Given the description of an element on the screen output the (x, y) to click on. 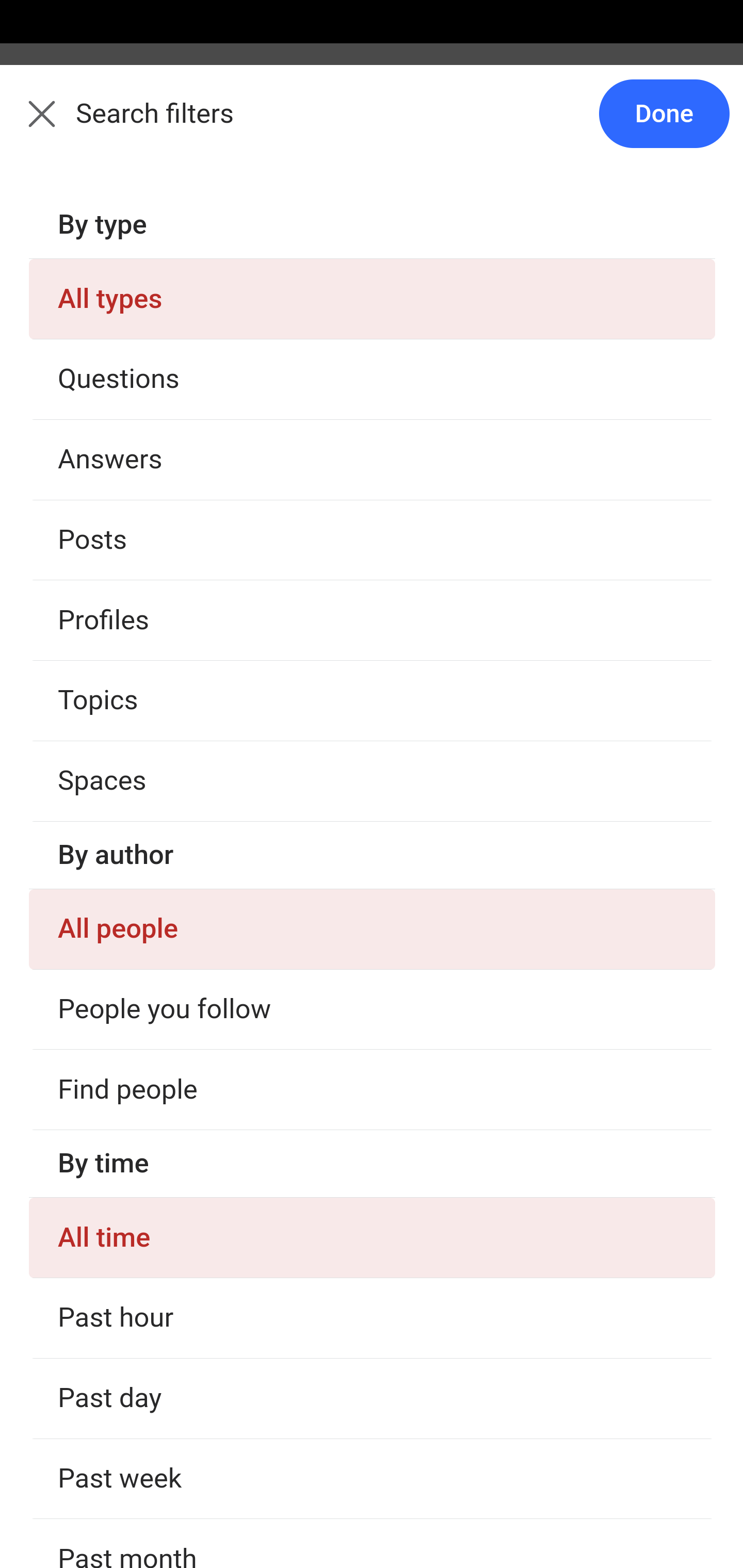
Back Search (371, 125)
Upvote (122, 544)
Upvote (122, 1255)
Answer (125, 1533)
